Given the description of an element on the screen output the (x, y) to click on. 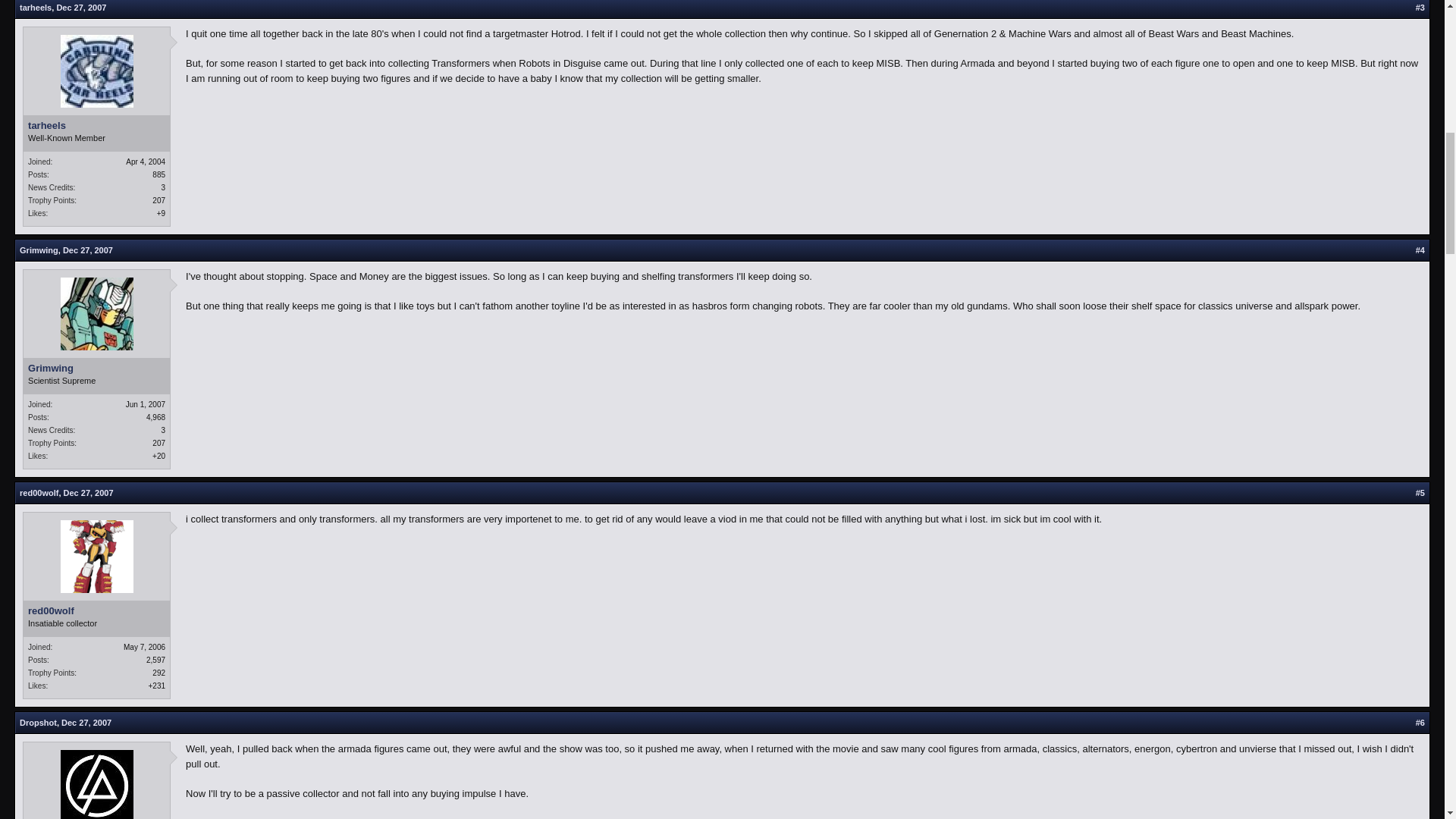
885 (158, 174)
Permalink (81, 7)
Permalink (88, 492)
Permalink (87, 249)
207 (158, 200)
Dec 27, 2007 (81, 7)
Permalink (86, 722)
tarheels (96, 125)
tarheels (35, 7)
